Given the description of an element on the screen output the (x, y) to click on. 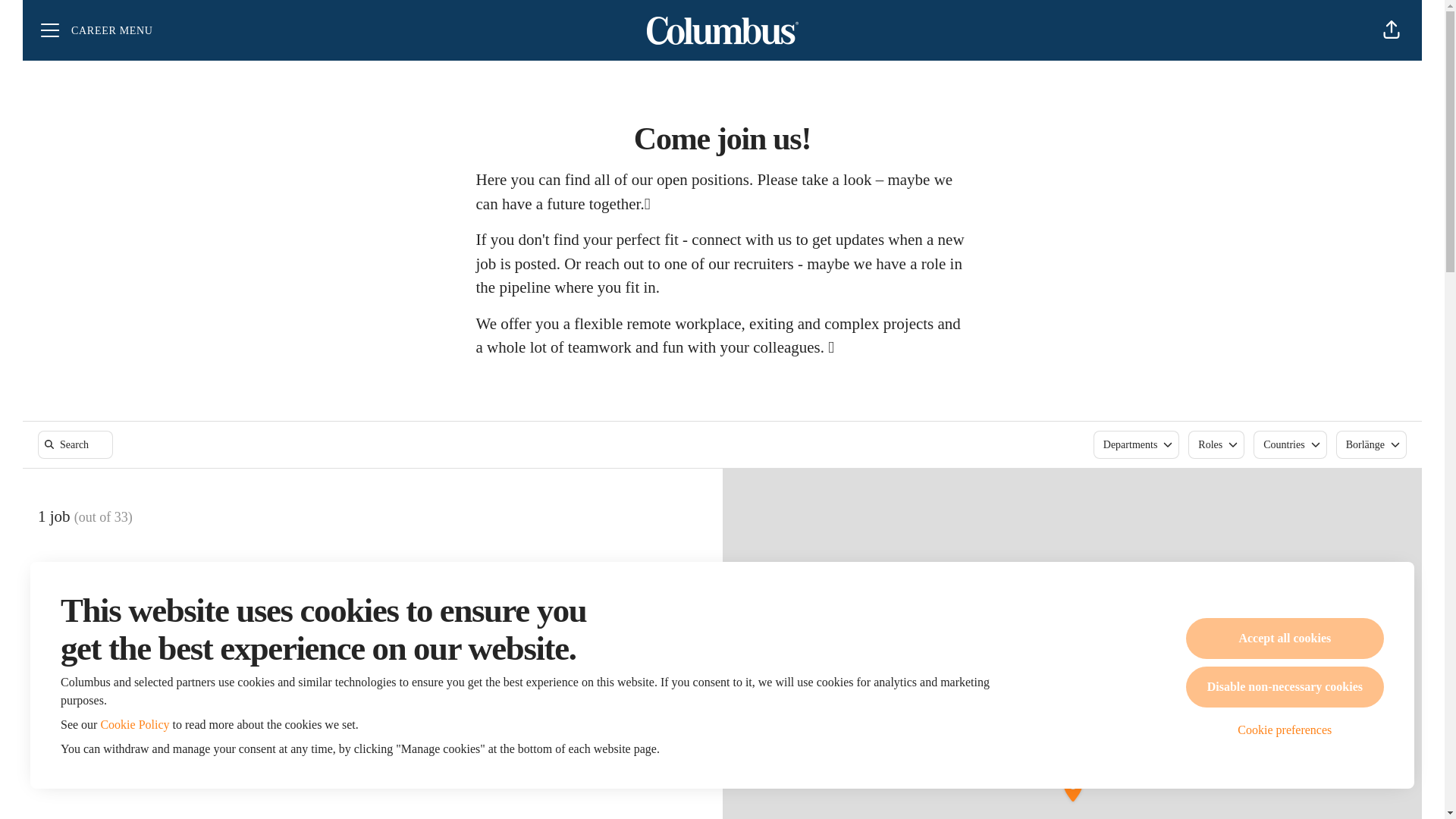
Accept all cookies (1285, 638)
Disable non-necessary cookies (1285, 686)
M3 Integrationsarkitekt (372, 582)
Departments (1136, 444)
Cookie Policy (134, 724)
CAREER MENU (97, 30)
Departments (1136, 444)
Locations (1371, 444)
Career menu (97, 30)
Countries (1289, 444)
Roles (1216, 444)
Cookie preferences (1284, 729)
Share page (1391, 30)
